Given the description of an element on the screen output the (x, y) to click on. 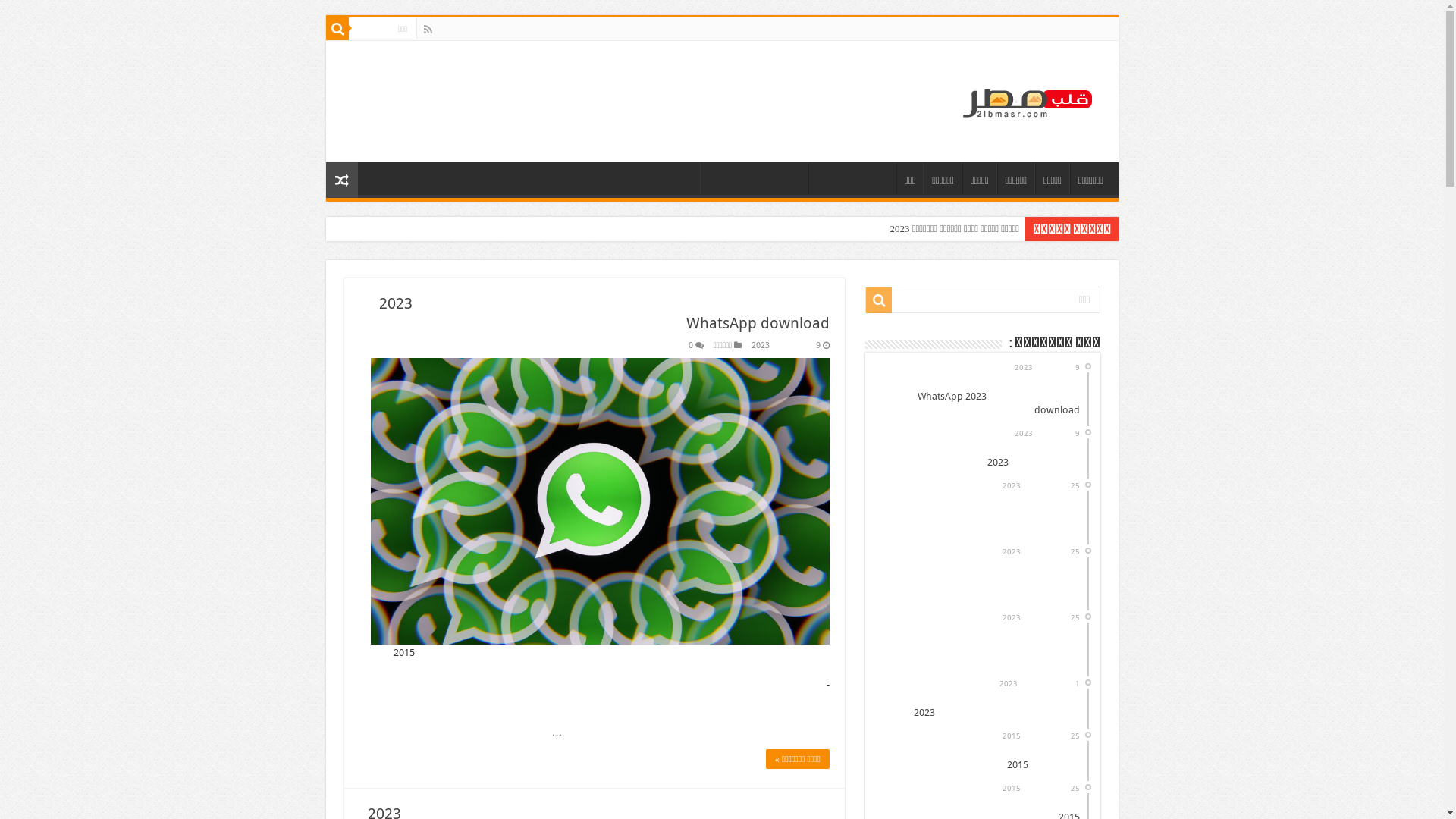
0 Element type: text (690, 345)
Rss Element type: hover (427, 29)
